Given the description of an element on the screen output the (x, y) to click on. 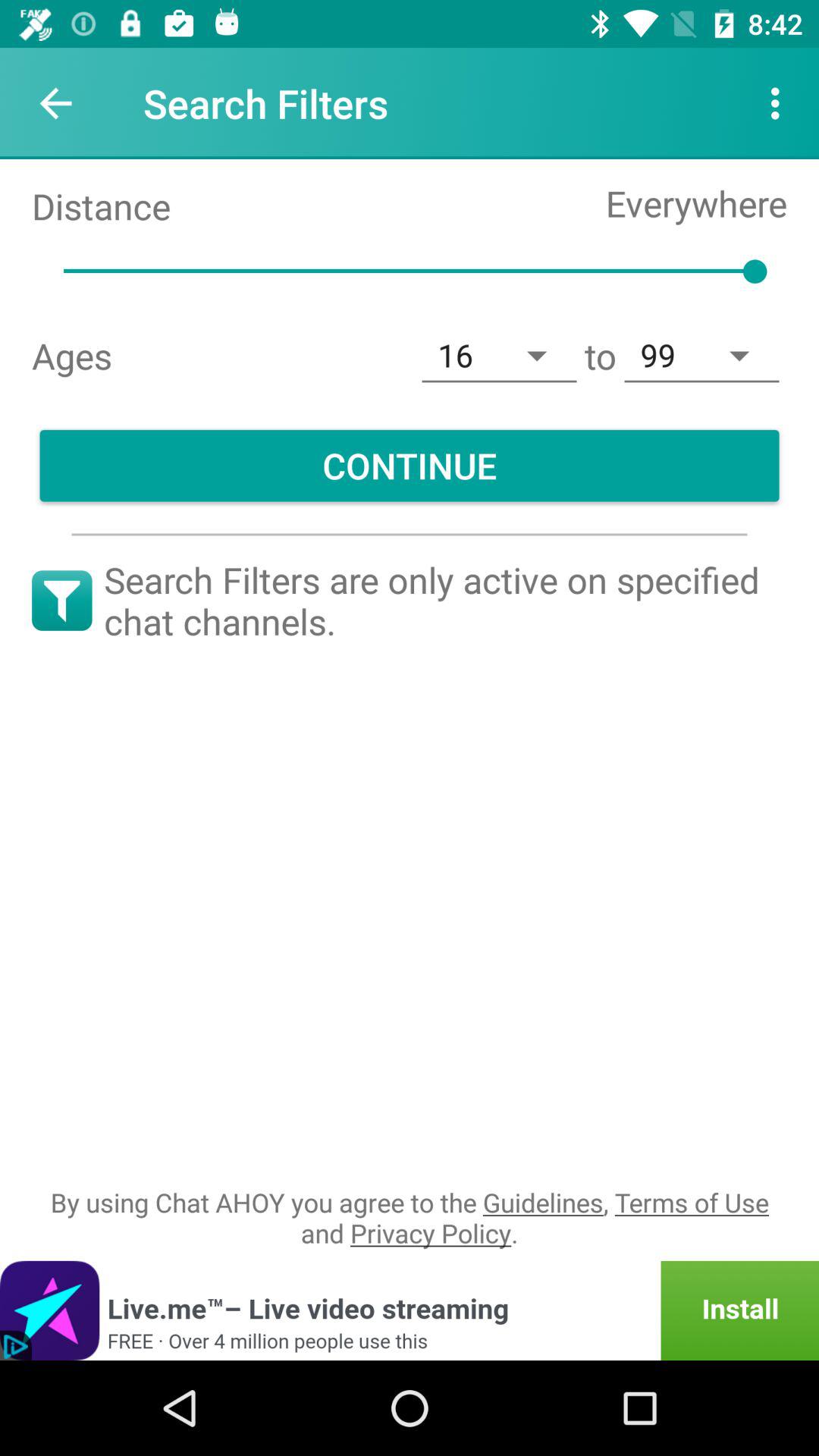
launch icon below ages icon (409, 465)
